Given the description of an element on the screen output the (x, y) to click on. 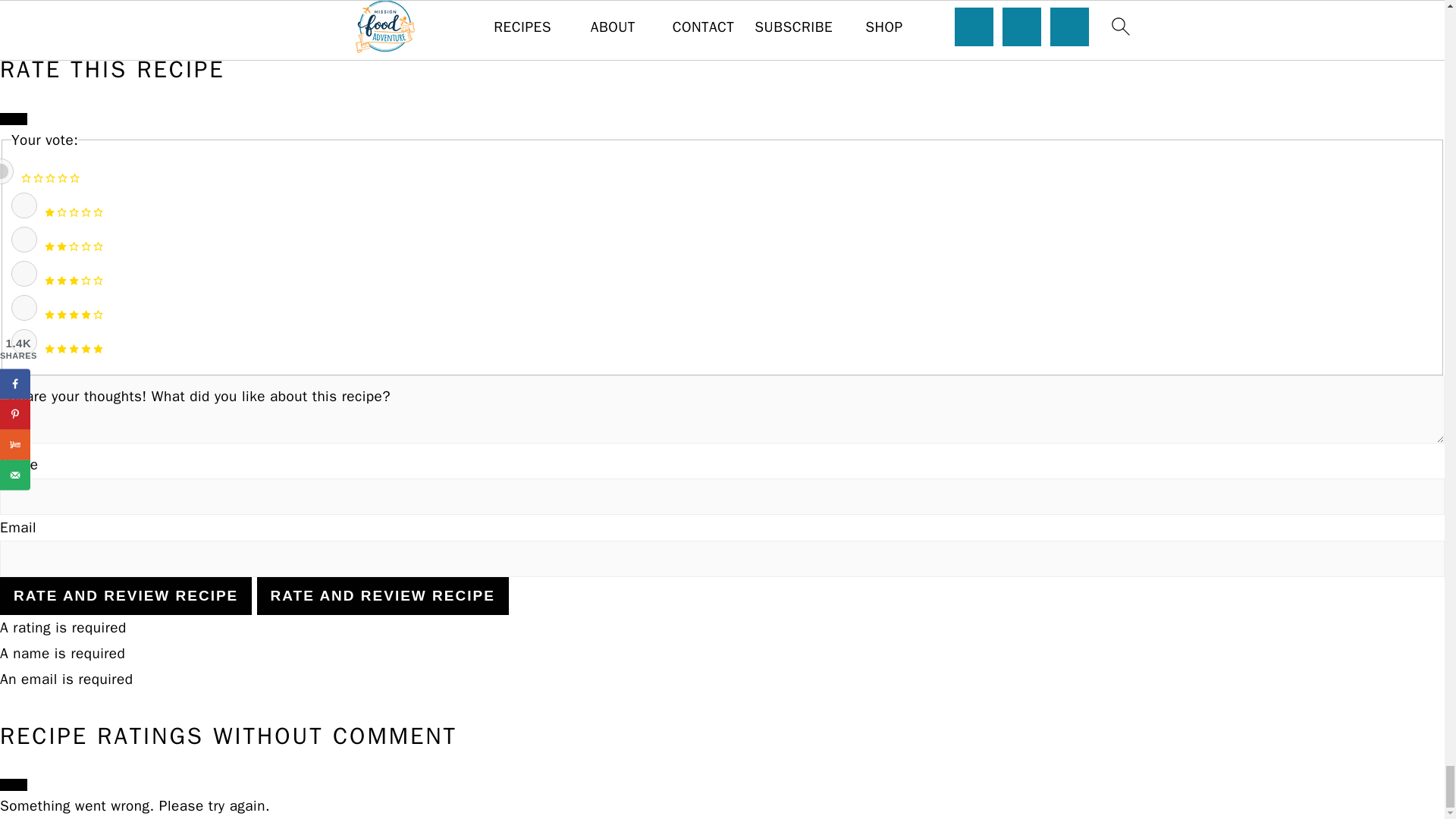
5 (24, 341)
4 (24, 307)
2 (24, 239)
3 (24, 273)
1 (24, 205)
